Given the description of an element on the screen output the (x, y) to click on. 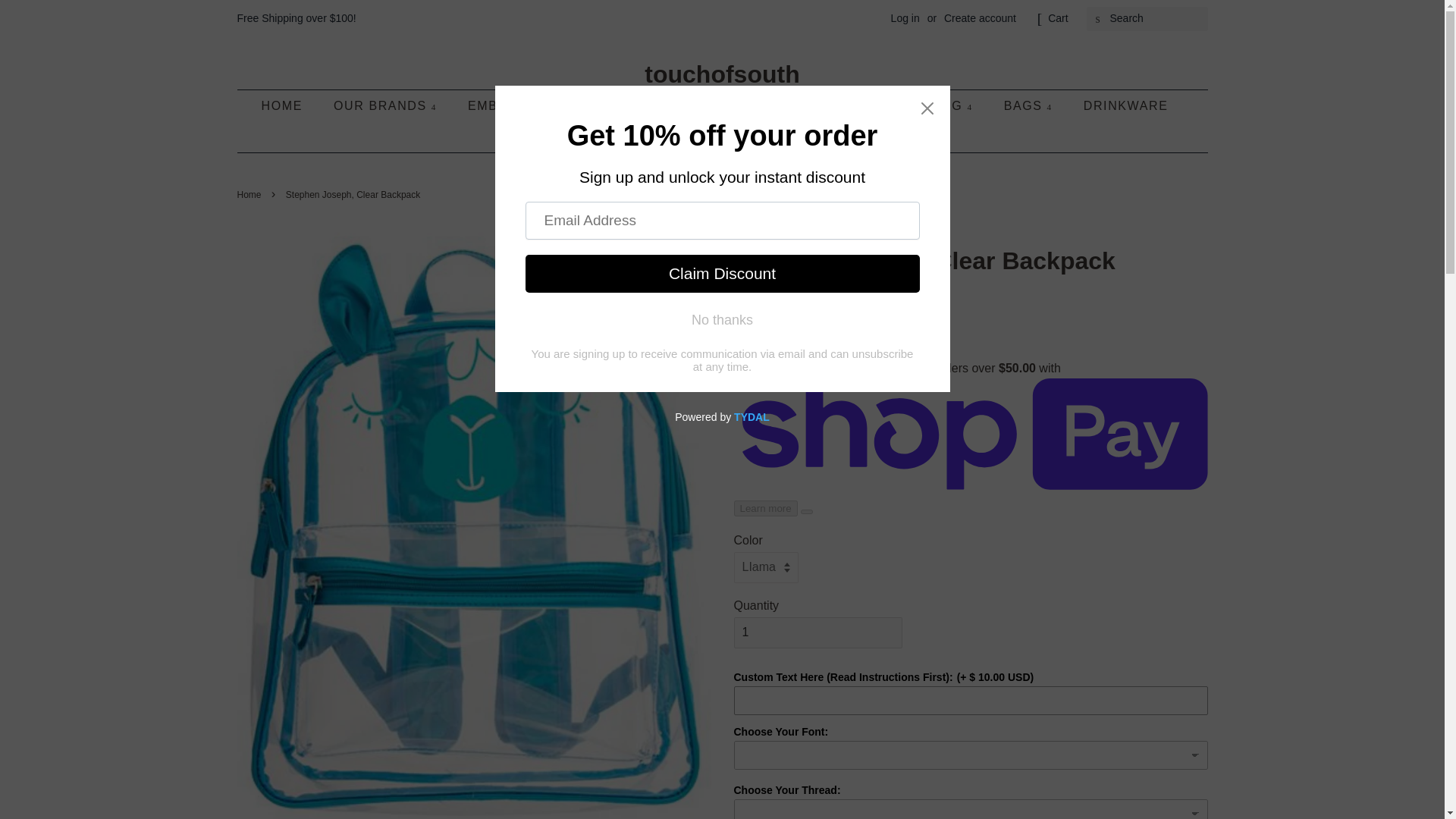
Cart (1057, 18)
1 (817, 632)
SEARCH (1097, 18)
Back to the frontpage (249, 194)
Create account (979, 18)
Log in (905, 18)
